Given the description of an element on the screen output the (x, y) to click on. 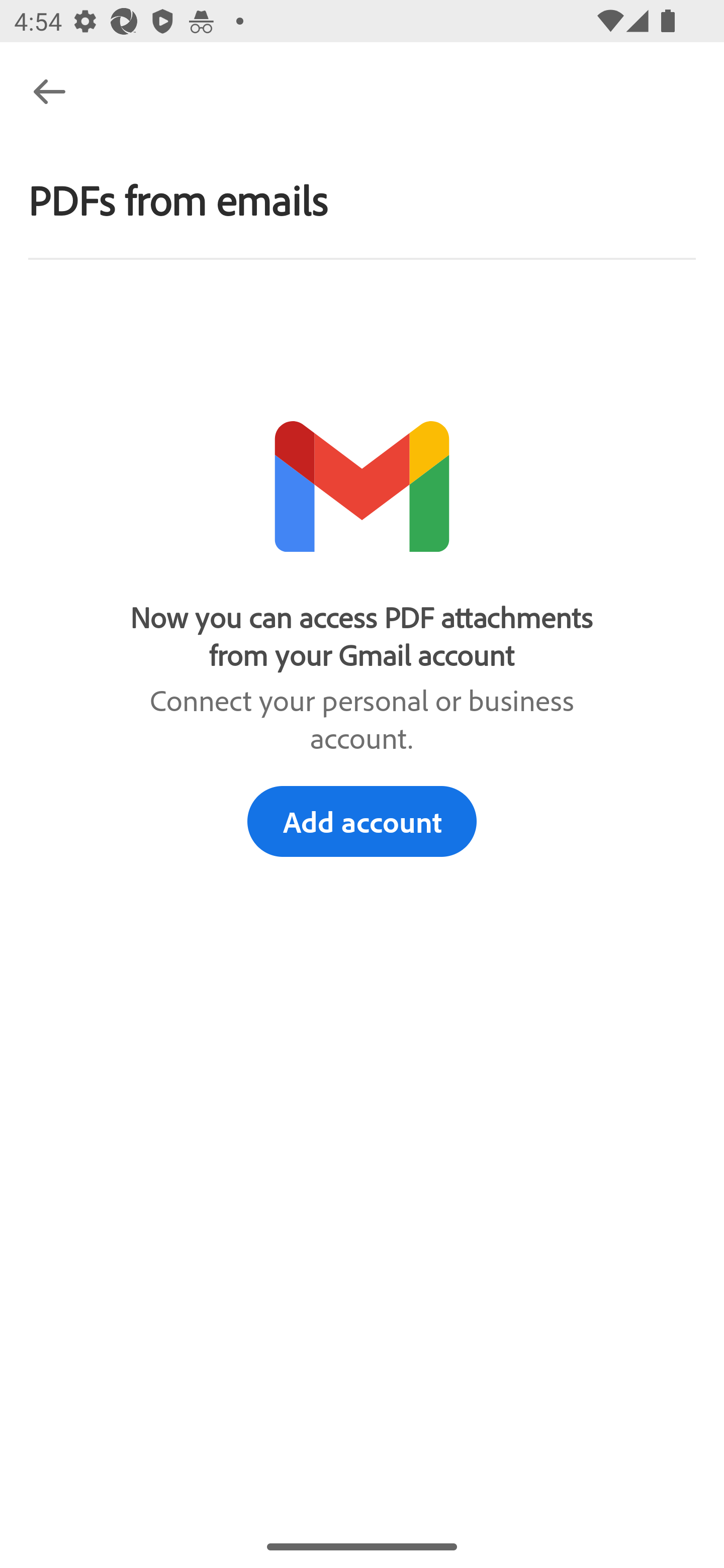
Navigate up (49, 91)
Add account (361, 820)
